Given the description of an element on the screen output the (x, y) to click on. 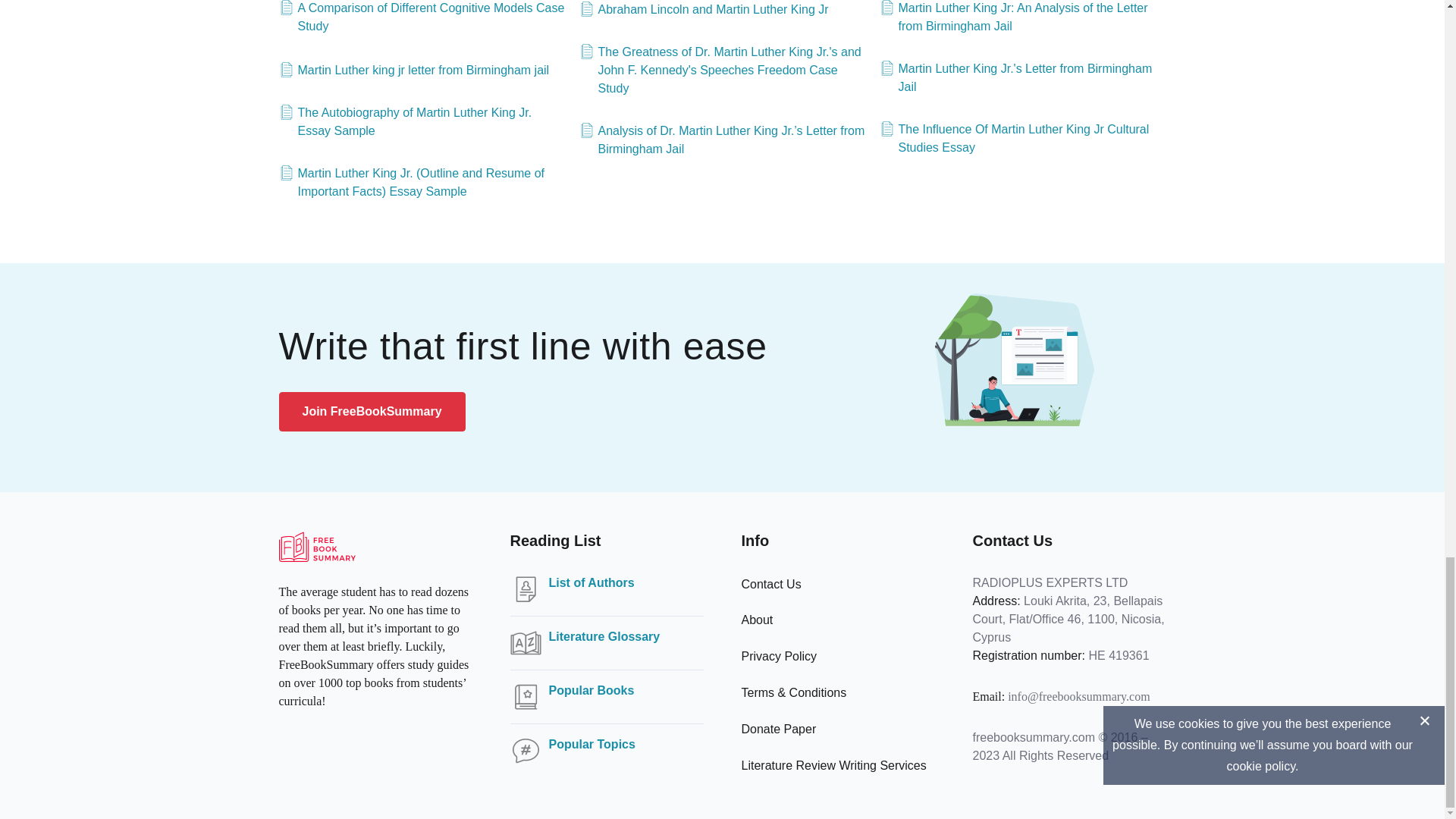
Martin Luther king jr letter from Birmingham jail (414, 70)
About (757, 619)
The Autobiography of Martin Luther King Jr. Essay Sample (422, 122)
Literature Glossary (604, 637)
Privacy Policy (778, 656)
Contact Us (771, 584)
Donate Paper (778, 728)
